Given the description of an element on the screen output the (x, y) to click on. 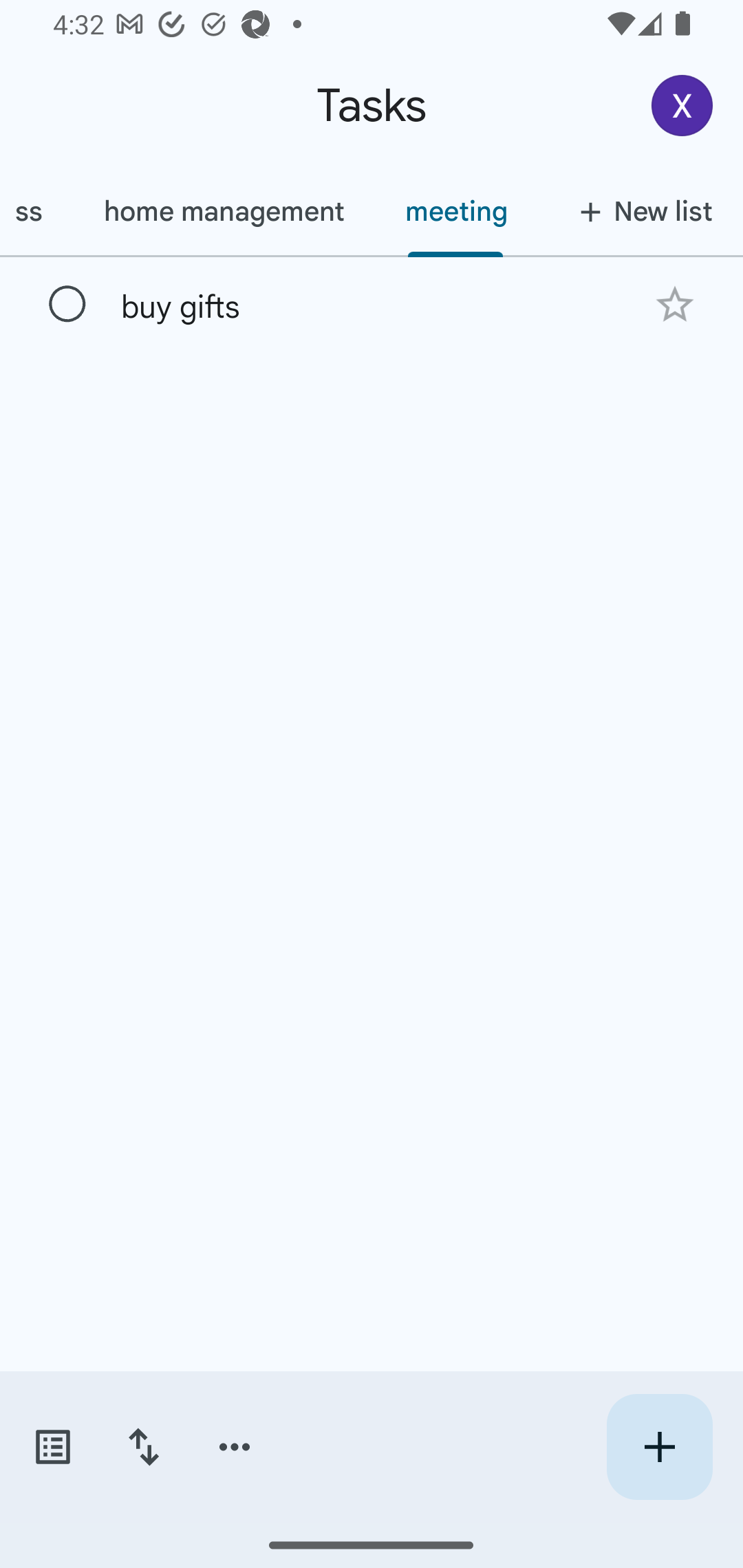
fitness (36, 211)
home management (223, 211)
New list (640, 211)
buy gifts buy gifts Add star Mark as complete (371, 303)
Add star (674, 303)
Mark as complete (67, 304)
Switch task lists (52, 1447)
Create new task (659, 1446)
Change sort order (143, 1446)
More options (234, 1446)
